Given the description of an element on the screen output the (x, y) to click on. 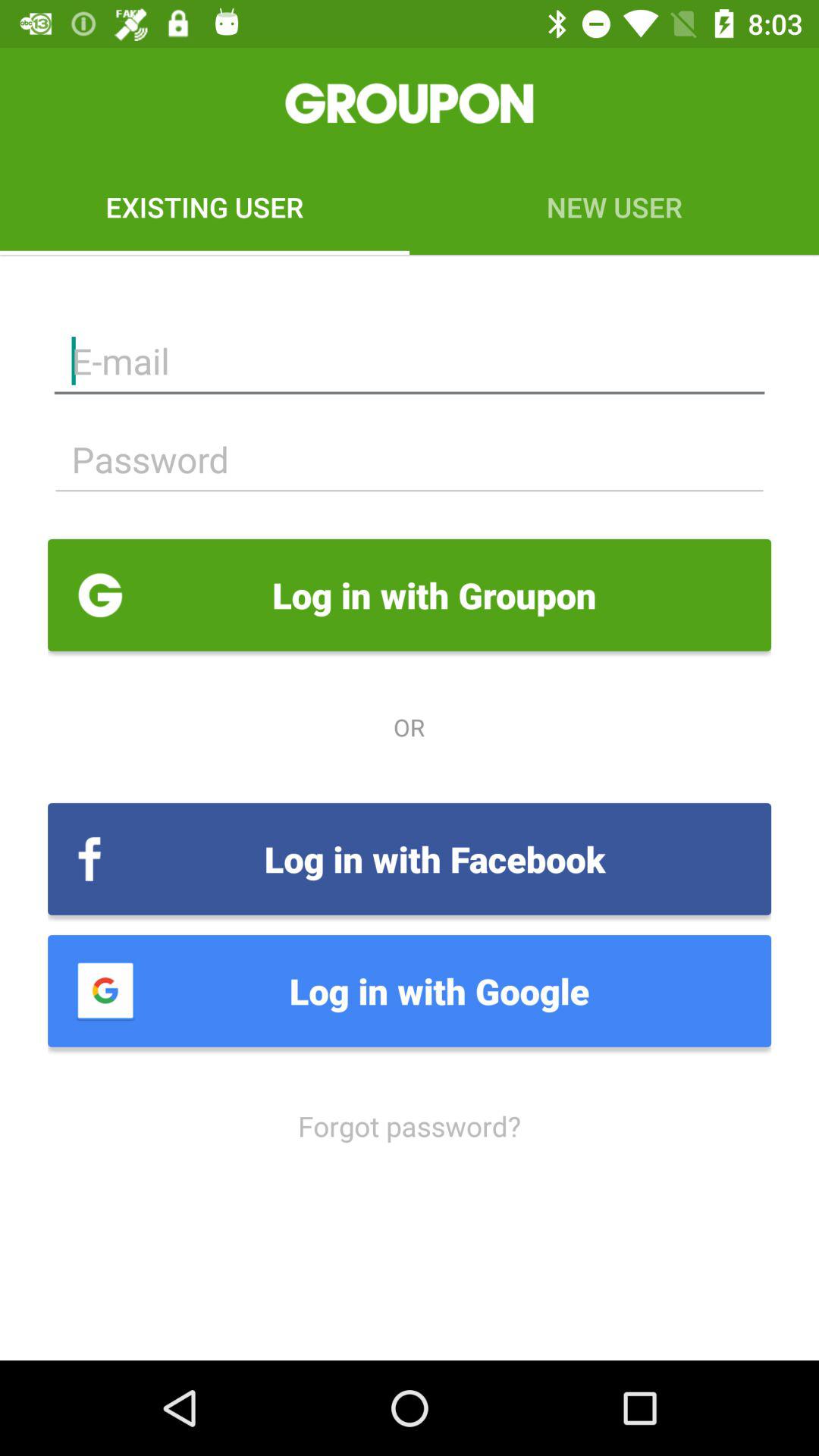
select the existing user icon (204, 206)
